Given the description of an element on the screen output the (x, y) to click on. 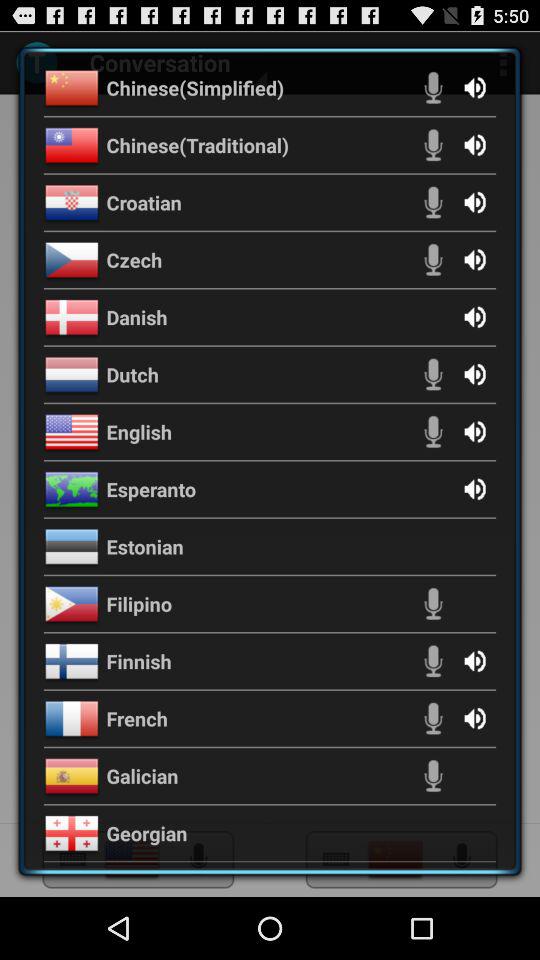
tap the icon above the chinese(traditional) app (195, 87)
